Given the description of an element on the screen output the (x, y) to click on. 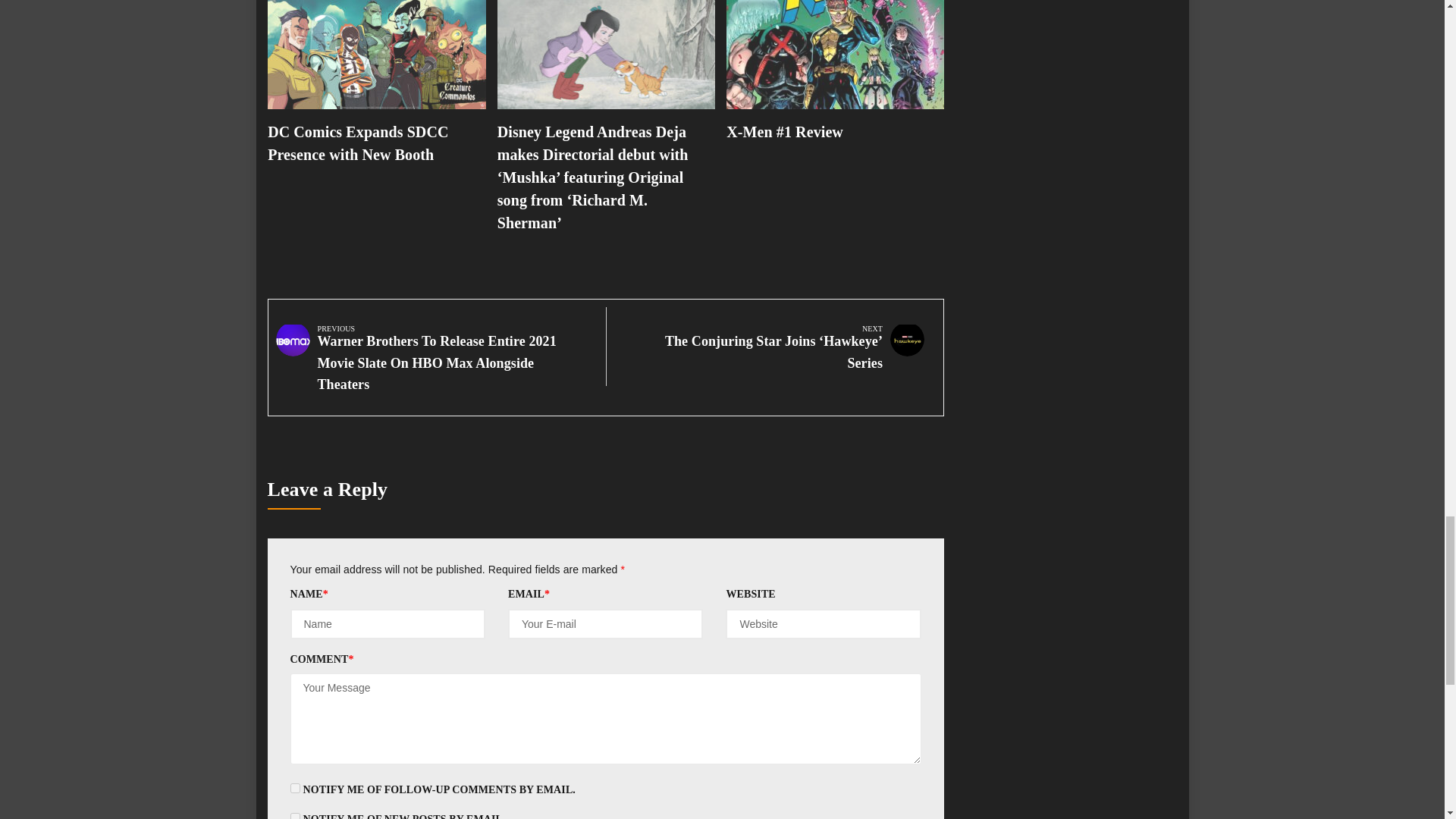
subscribe (294, 787)
subscribe (294, 816)
